Given the description of an element on the screen output the (x, y) to click on. 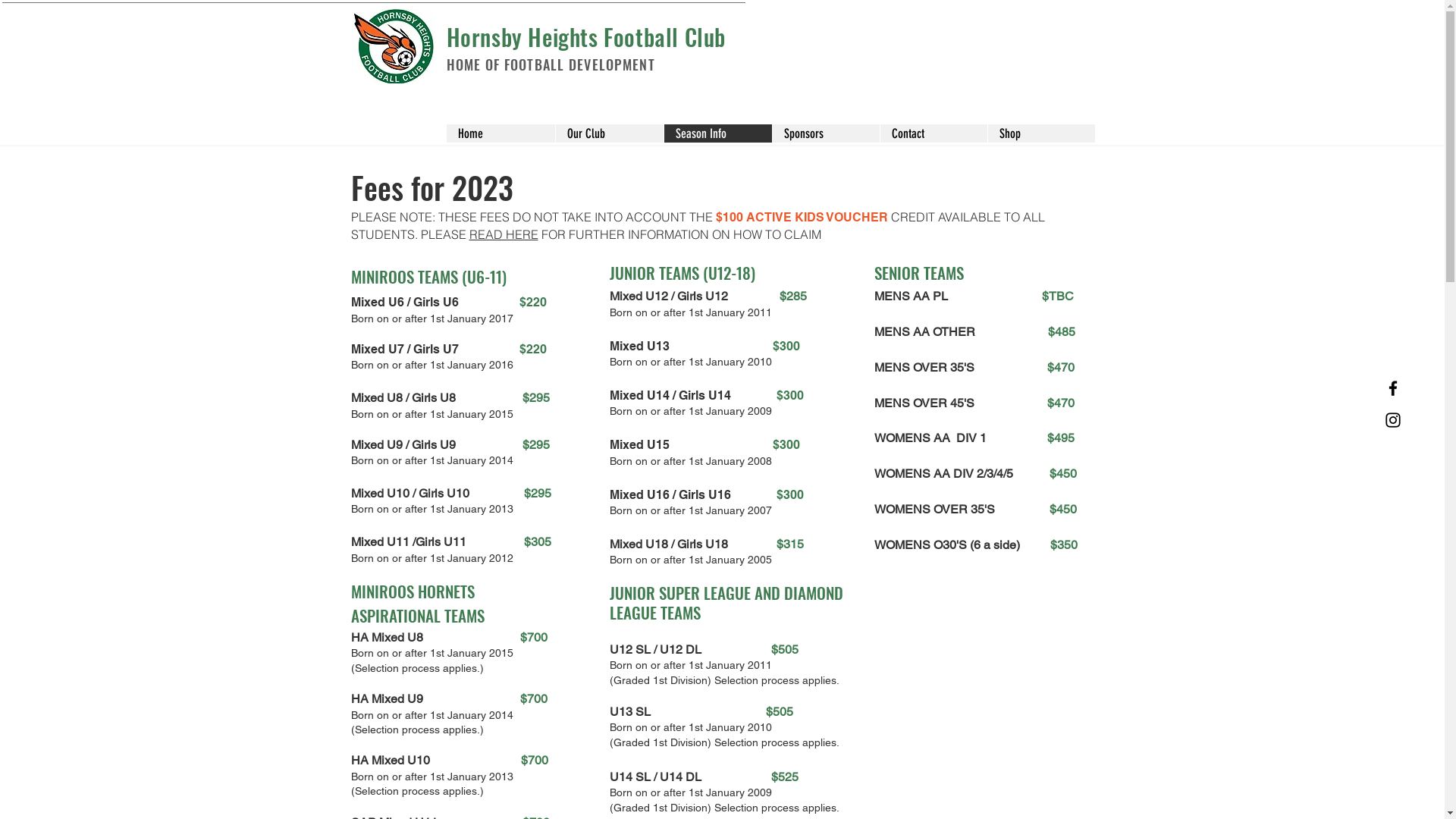
Contact Element type: text (933, 133)
Home Element type: text (499, 133)
READ HERE Element type: text (502, 233)
Our Club Element type: text (609, 133)
Sponsors Element type: text (825, 133)
Season Info Element type: text (716, 133)
Shop Element type: text (1041, 133)
